Given the description of an element on the screen output the (x, y) to click on. 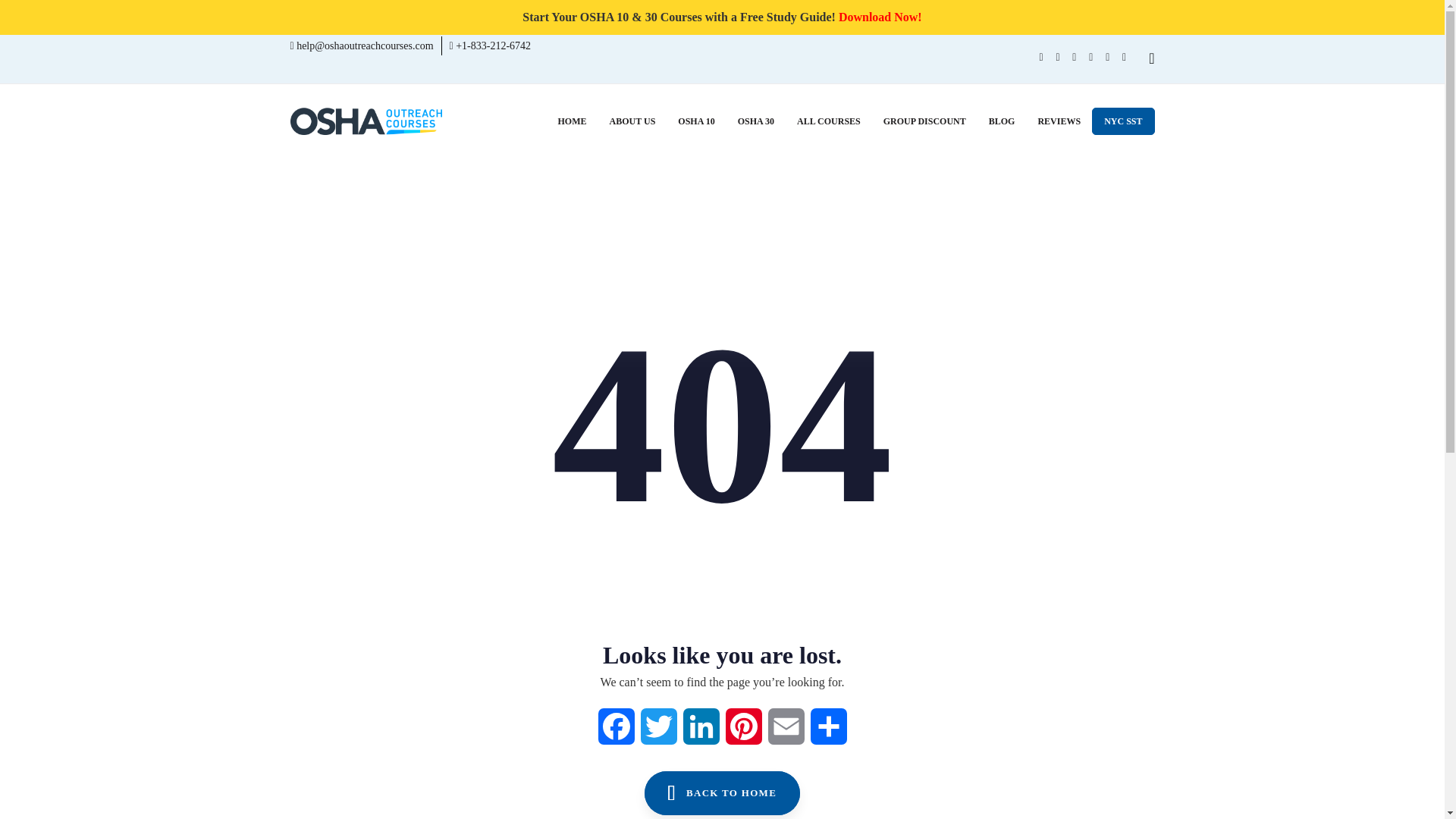
NYC SST (1123, 121)
Download Now! (879, 16)
GROUP DISCOUNT (924, 121)
HOME (572, 121)
OSHA 10 (695, 121)
ALL COURSES (829, 121)
ABOUT US (632, 121)
BACK TO HOME (722, 792)
REVIEWS (1059, 121)
BLOG (1001, 121)
OSHA 30 (756, 121)
